Given the description of an element on the screen output the (x, y) to click on. 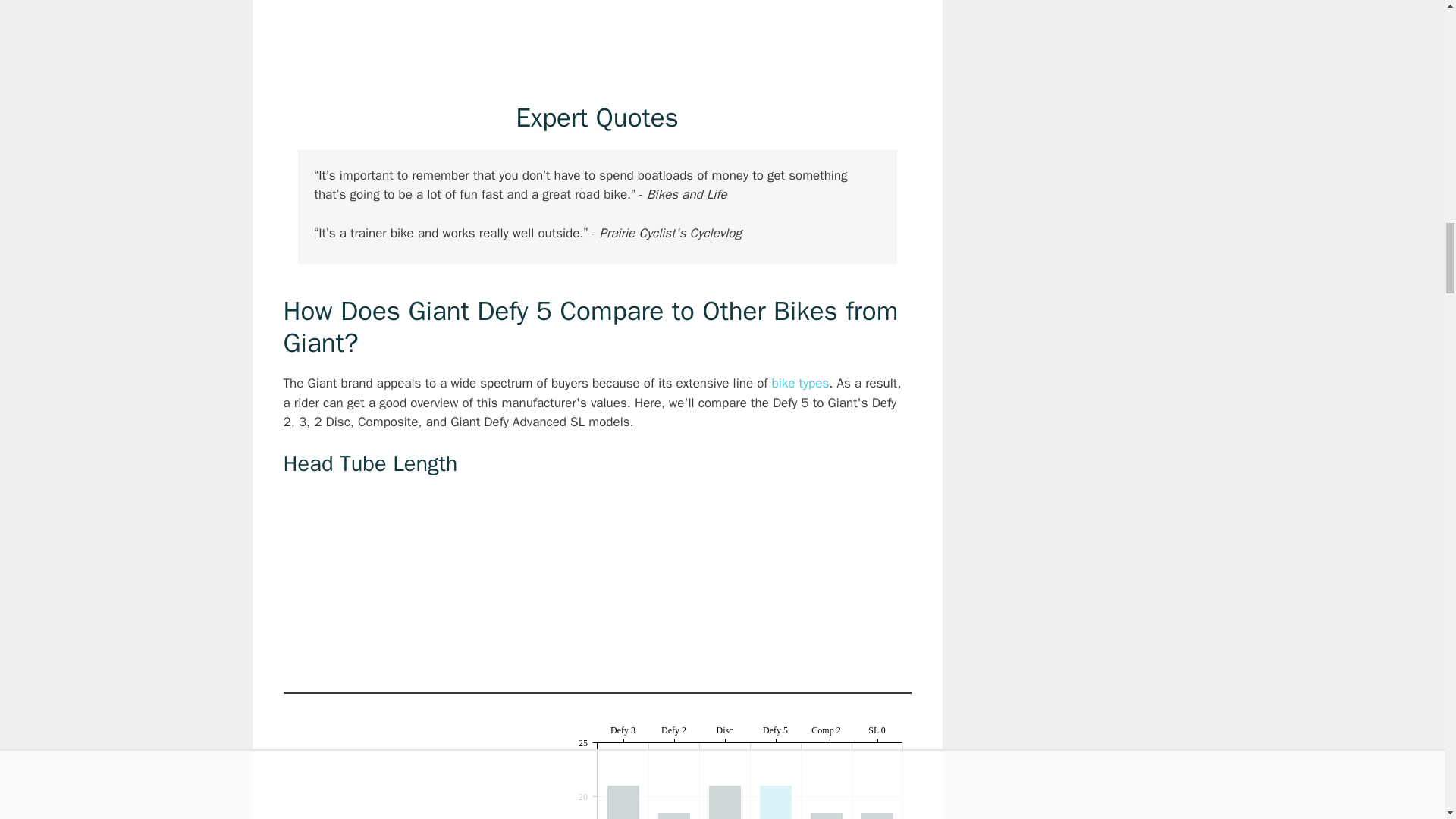
Head Tube Length (410, 773)
bike types (800, 383)
